Given the description of an element on the screen output the (x, y) to click on. 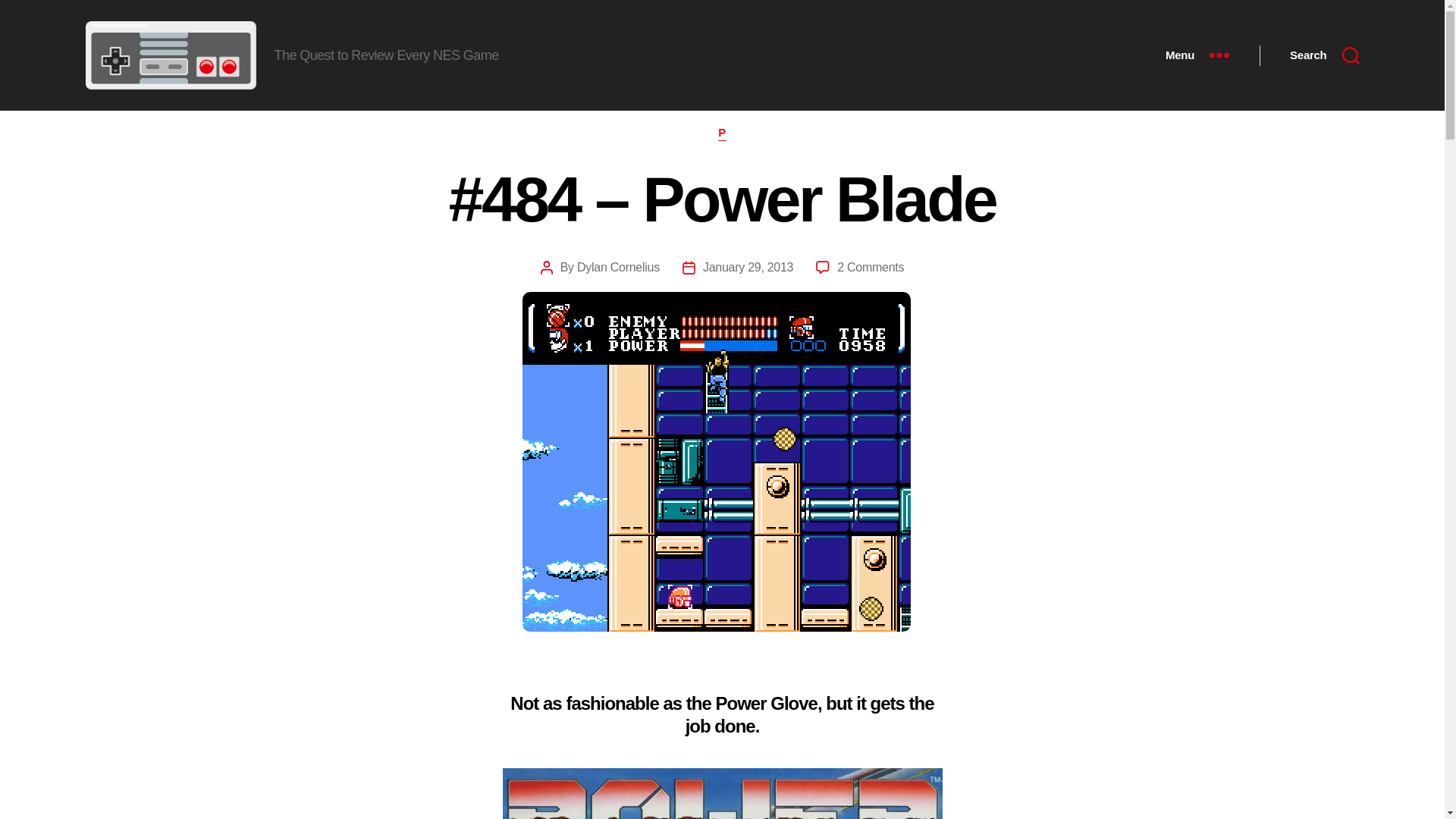
2 Comments (870, 267)
January 29, 2013 (748, 267)
Menu (1197, 55)
Search (1324, 55)
Dylan Cornelius (617, 267)
